Given the description of an element on the screen output the (x, y) to click on. 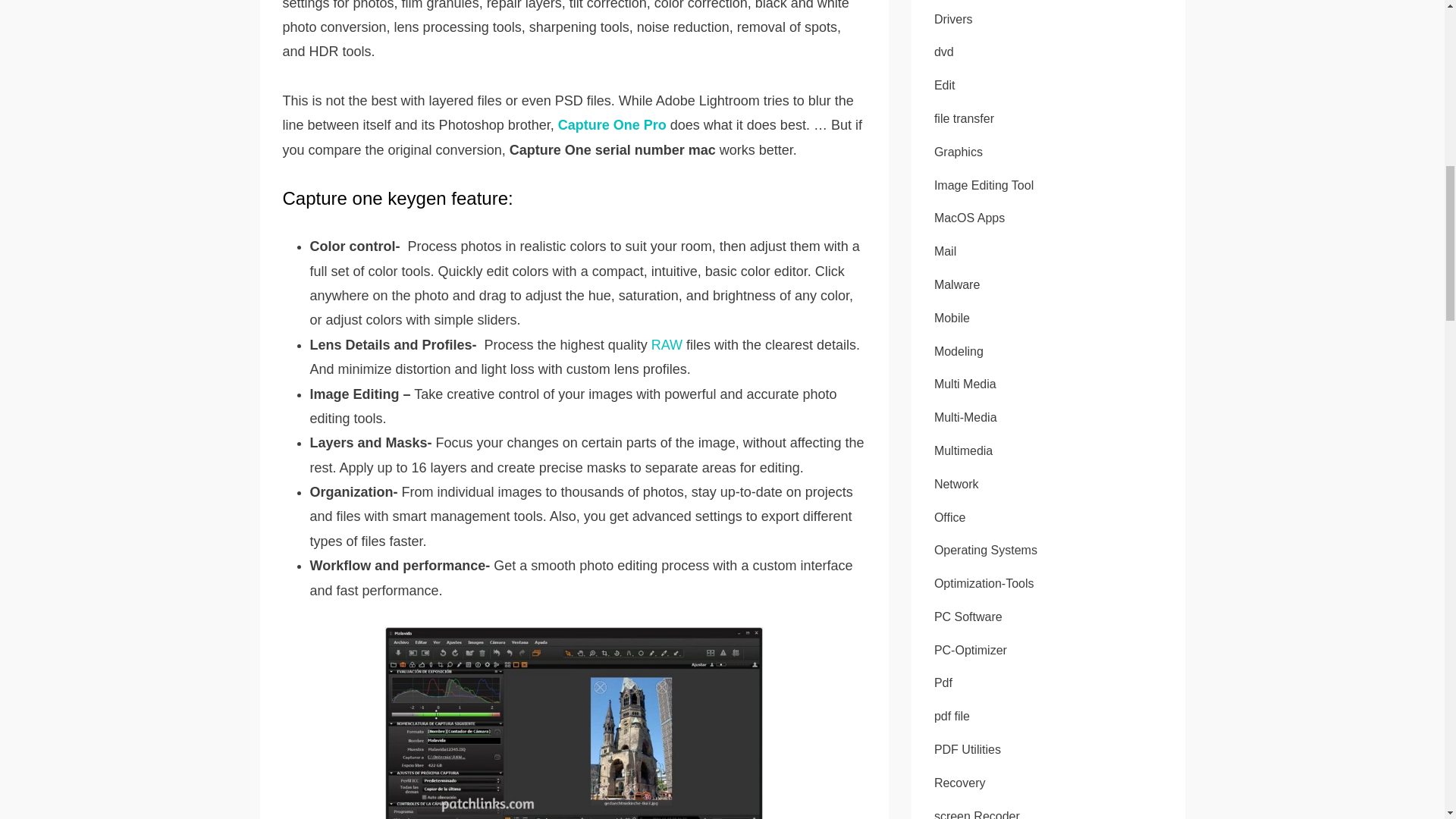
Capture One Pro (613, 124)
RAW (666, 344)
